Given the description of an element on the screen output the (x, y) to click on. 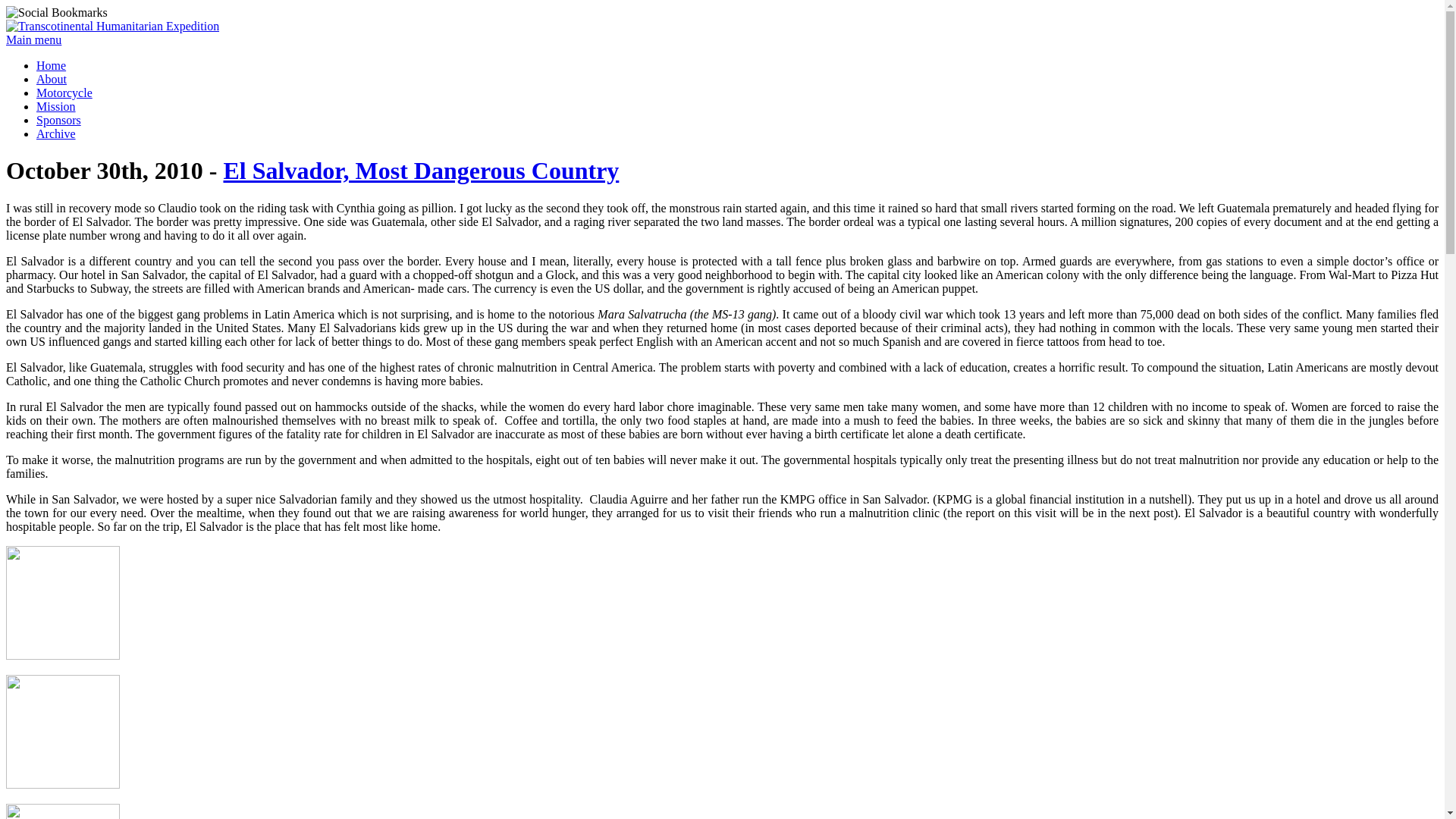
Mission (55, 106)
Main menu (33, 39)
About (51, 78)
Archive (55, 133)
Sponsors (58, 119)
Home (50, 65)
Main menu (33, 39)
Motorcycle (64, 92)
El Salvador, Most Dangerous Country (420, 170)
Permanent Link to El Salvador, Most Dangerous Country (420, 170)
